Given the description of an element on the screen output the (x, y) to click on. 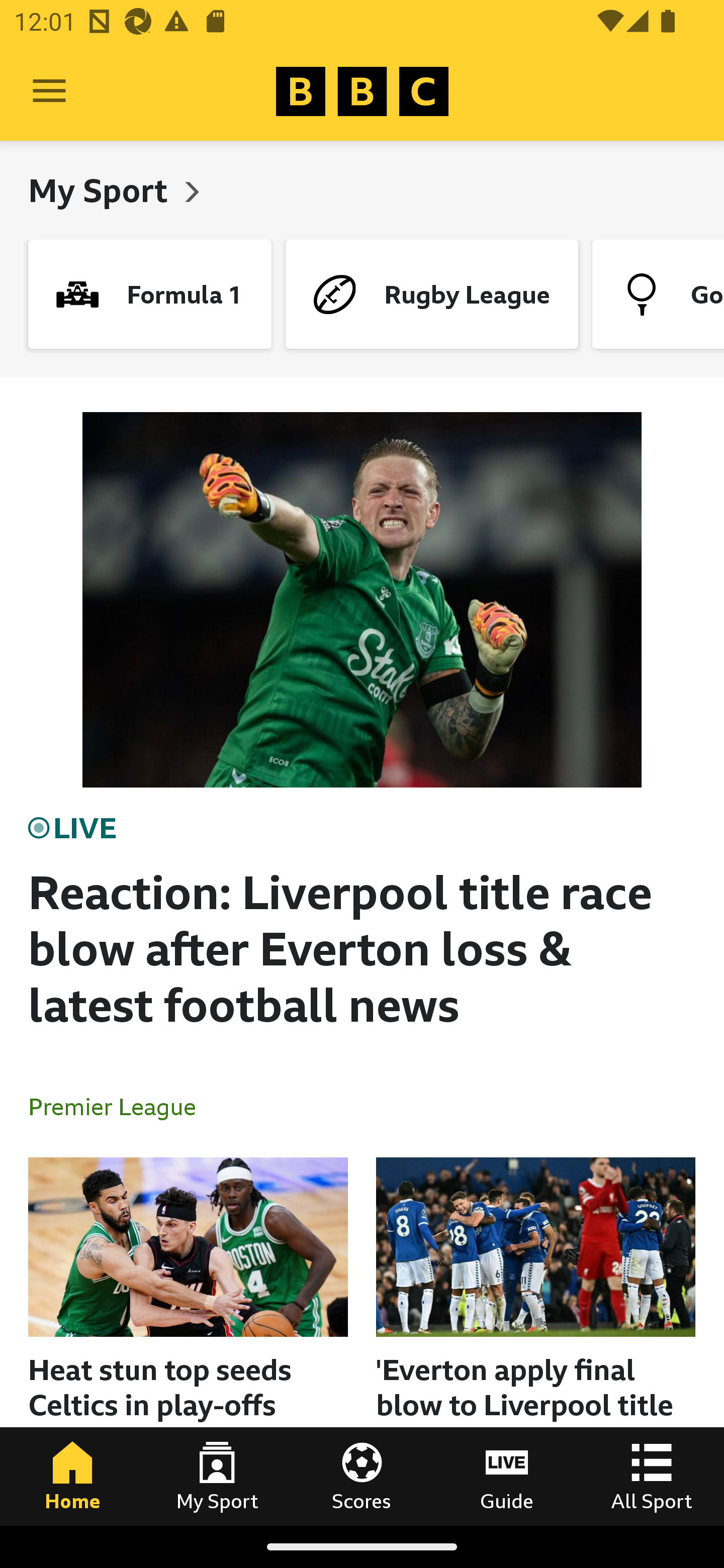
Open Menu (49, 91)
My Sport (101, 190)
Premier League In the section Premier League (119, 1106)
My Sport (216, 1475)
Scores (361, 1475)
Guide (506, 1475)
All Sport (651, 1475)
